Given the description of an element on the screen output the (x, y) to click on. 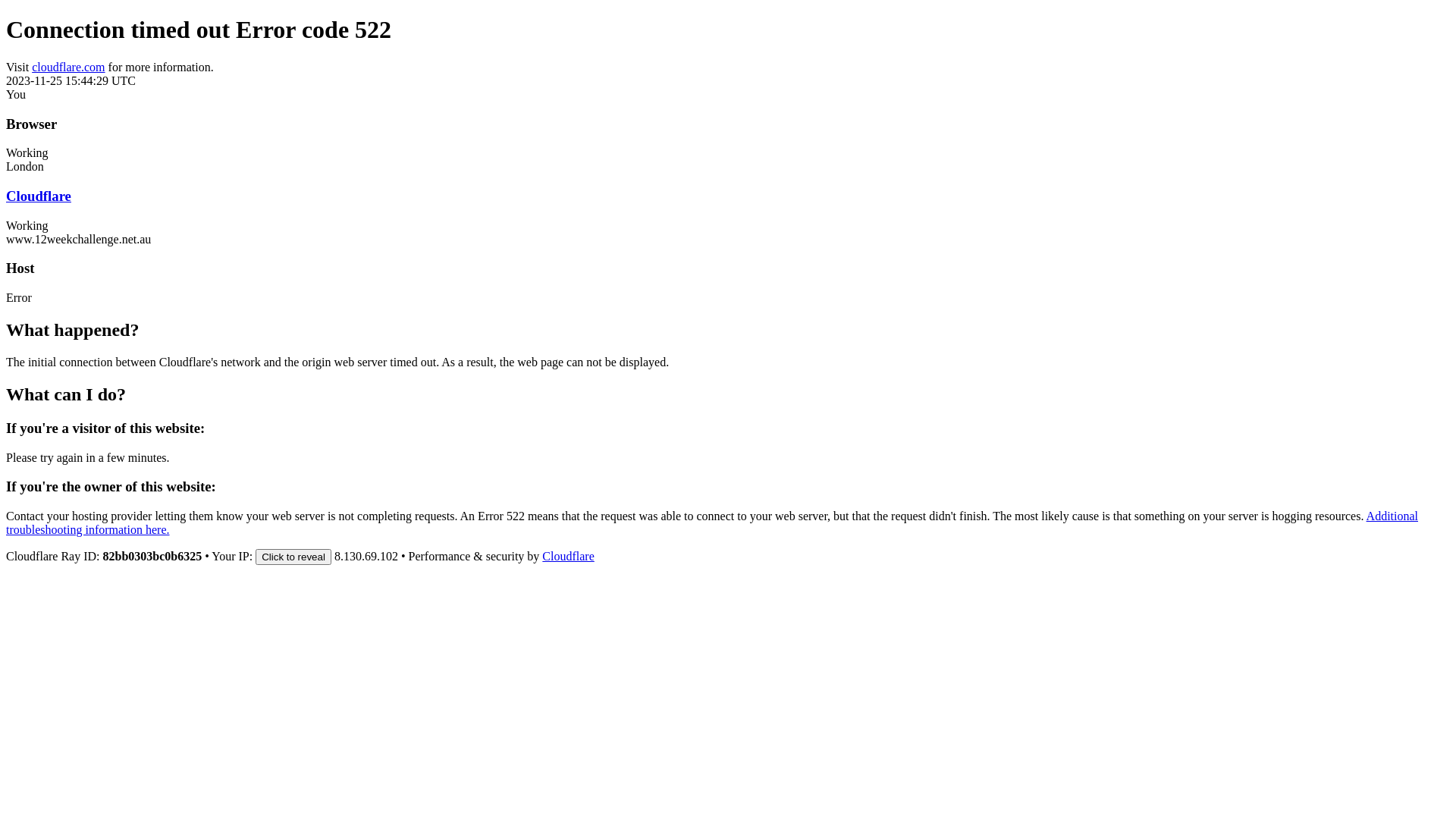
Cloudflare Element type: text (38, 195)
Cloudflare Element type: text (567, 555)
Additional troubleshooting information here. Element type: text (712, 522)
Click to reveal Element type: text (293, 556)
cloudflare.com Element type: text (67, 66)
